Given the description of an element on the screen output the (x, y) to click on. 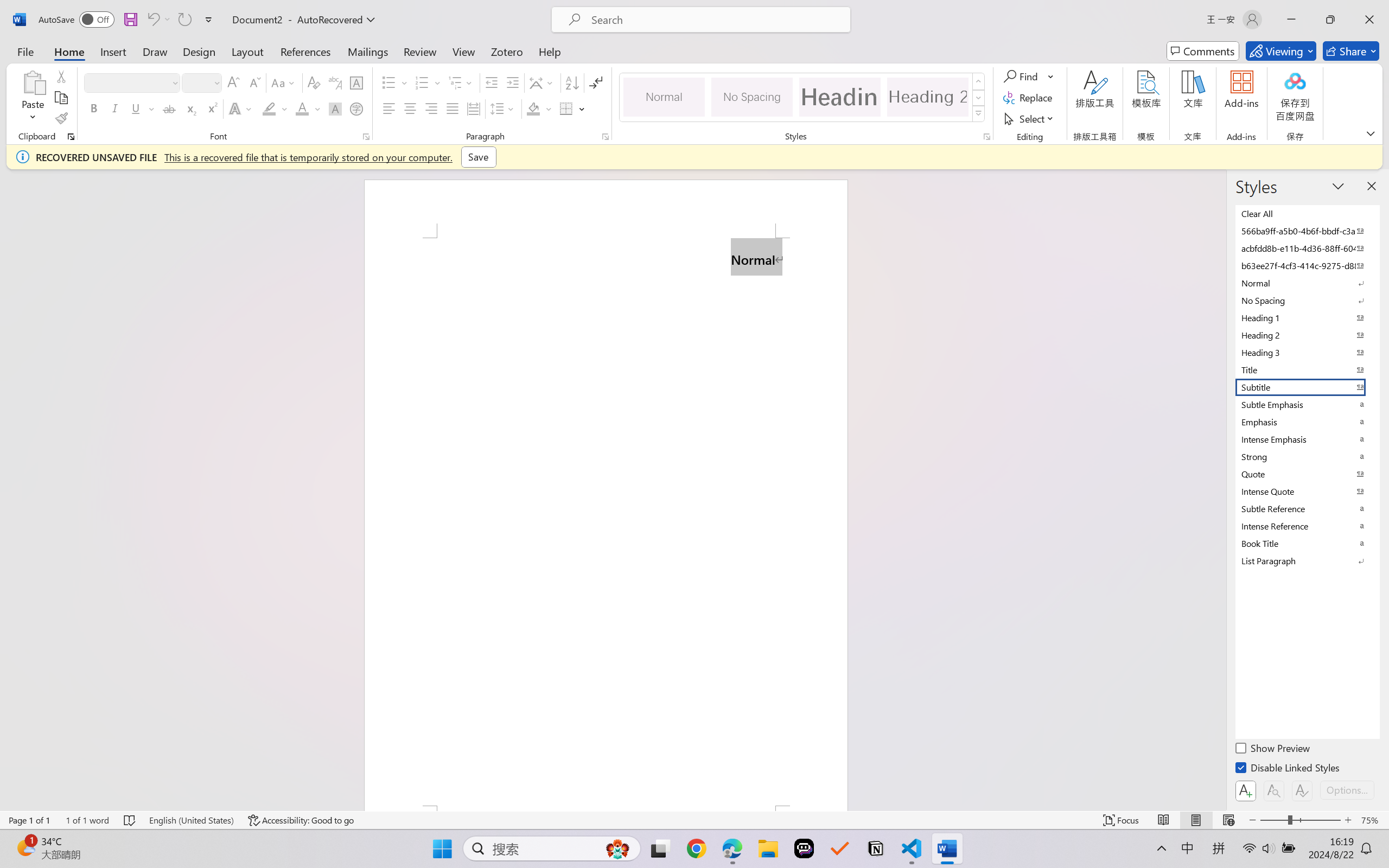
Intense Emphasis (1306, 438)
Sort... (571, 82)
Open (215, 82)
Subtle Reference (1306, 508)
Disable Linked Styles (1287, 769)
